Given the description of an element on the screen output the (x, y) to click on. 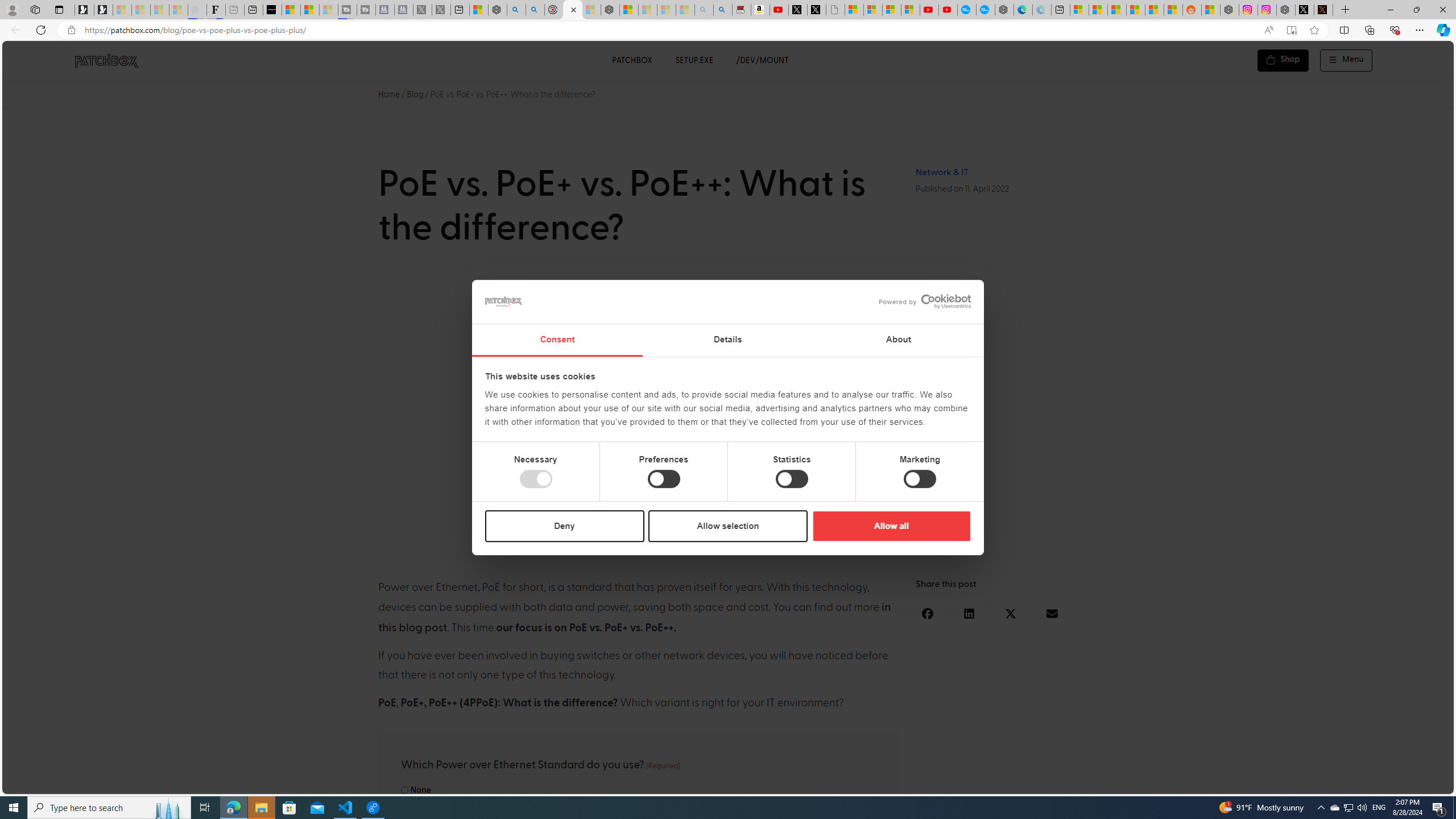
logo (503, 301)
Language switcher : Norwegian (1288, 782)
Shanghai, China hourly forecast | Microsoft Weather (1116, 9)
Language switcher : French (1243, 782)
Enter Immersive Reader (F9) (1291, 29)
Menu Off-Canvas (1346, 60)
SETUP.EXE (694, 60)
Marketing (920, 479)
